Given the description of an element on the screen output the (x, y) to click on. 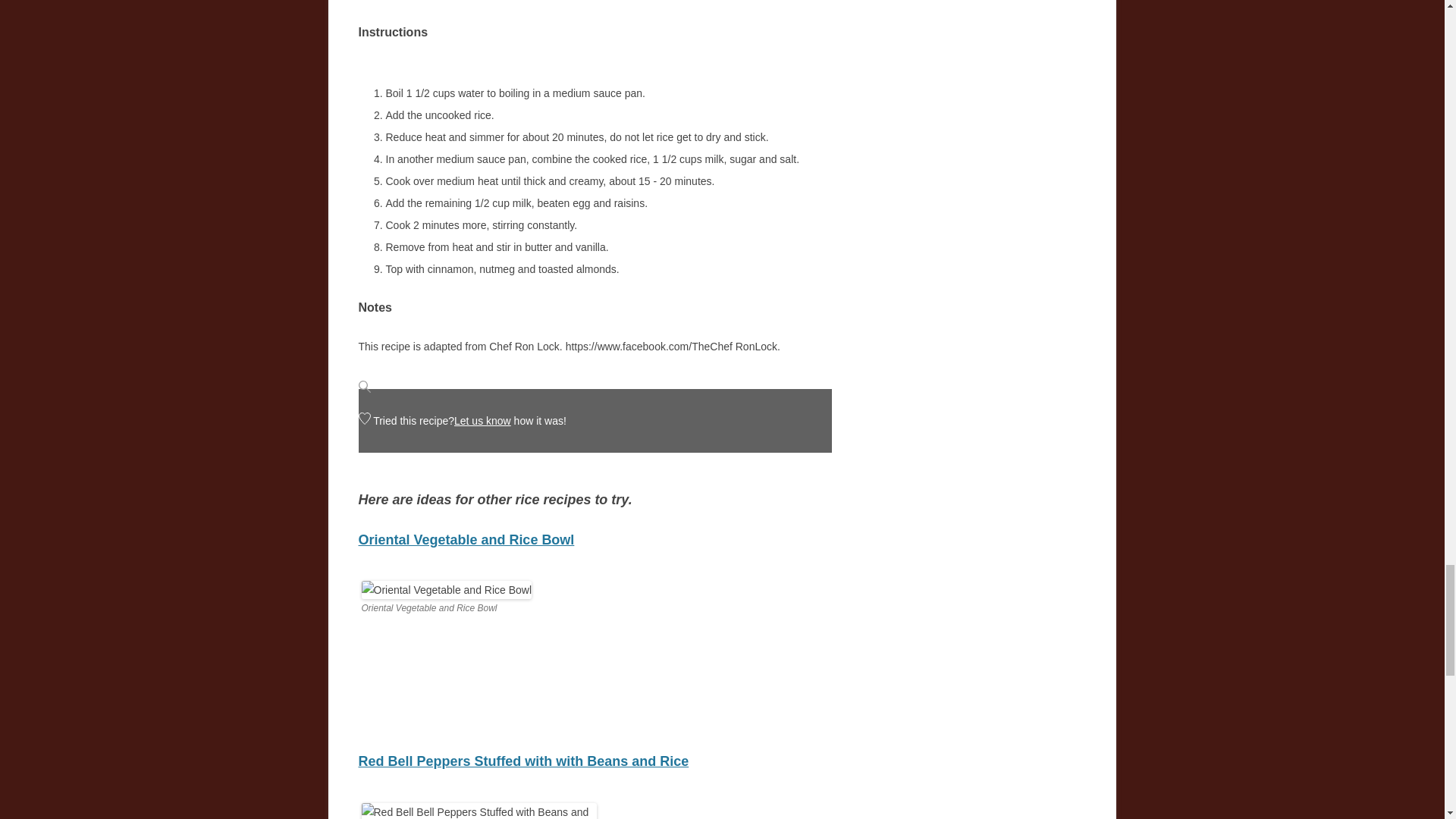
Let us know (482, 420)
Red Bell Peppers Stuffed with with Beans and Rice (523, 761)
Oriental Vegetable and Rice Bowl (465, 539)
